Given the description of an element on the screen output the (x, y) to click on. 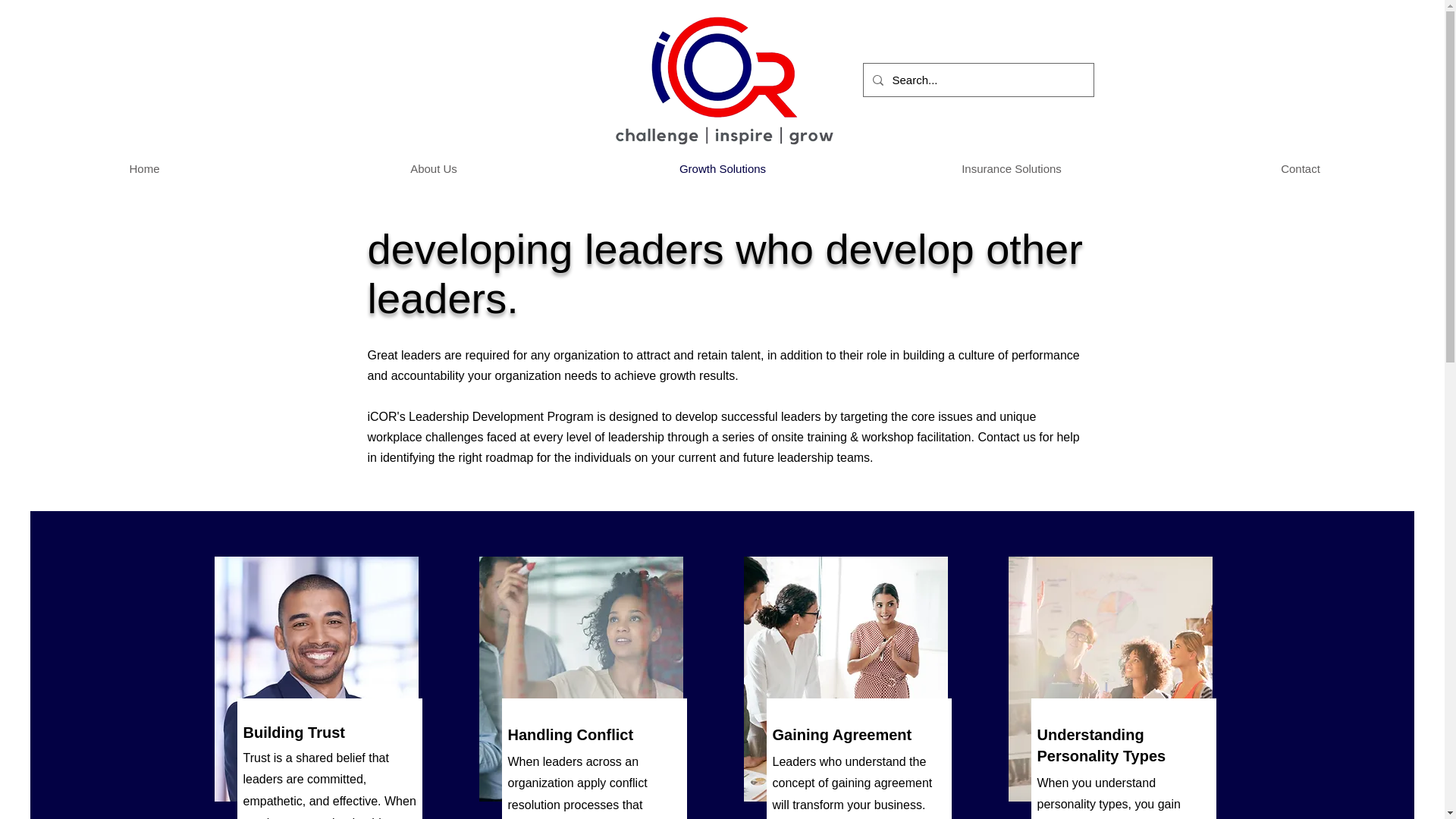
Insurance Solutions (1011, 168)
Home (144, 168)
Growth Solutions (722, 168)
About Us (433, 168)
